Given the description of an element on the screen output the (x, y) to click on. 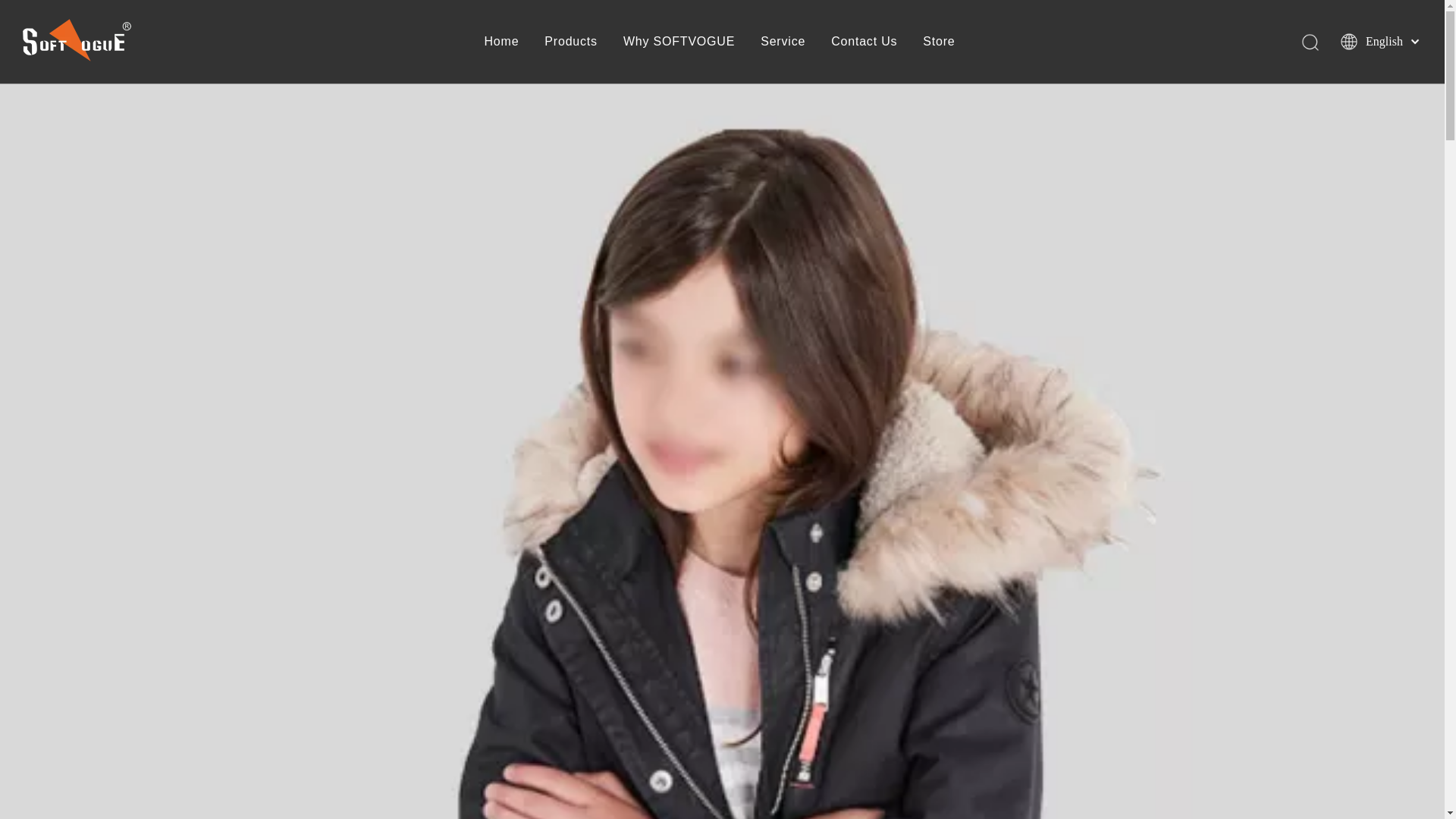
Why SOFTVOGUE (679, 41)
